Given the description of an element on the screen output the (x, y) to click on. 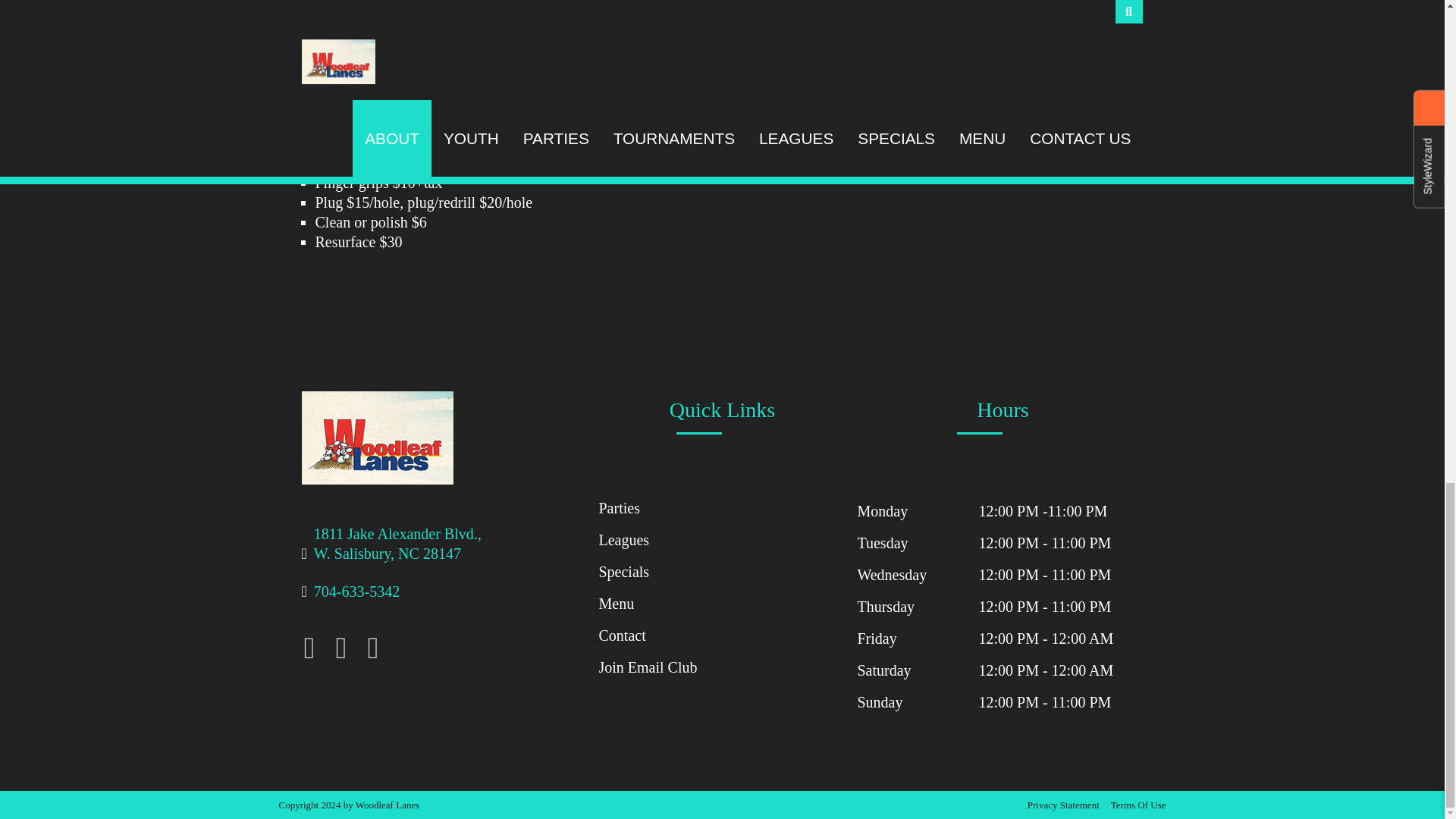
Menu (616, 603)
Privacy Statement (1063, 804)
704-633-5342 (357, 591)
Specials (623, 571)
Leagues (623, 539)
Parties (618, 507)
Join Email Club (397, 553)
Contact (647, 667)
Terms Of Use (621, 635)
